Given the description of an element on the screen output the (x, y) to click on. 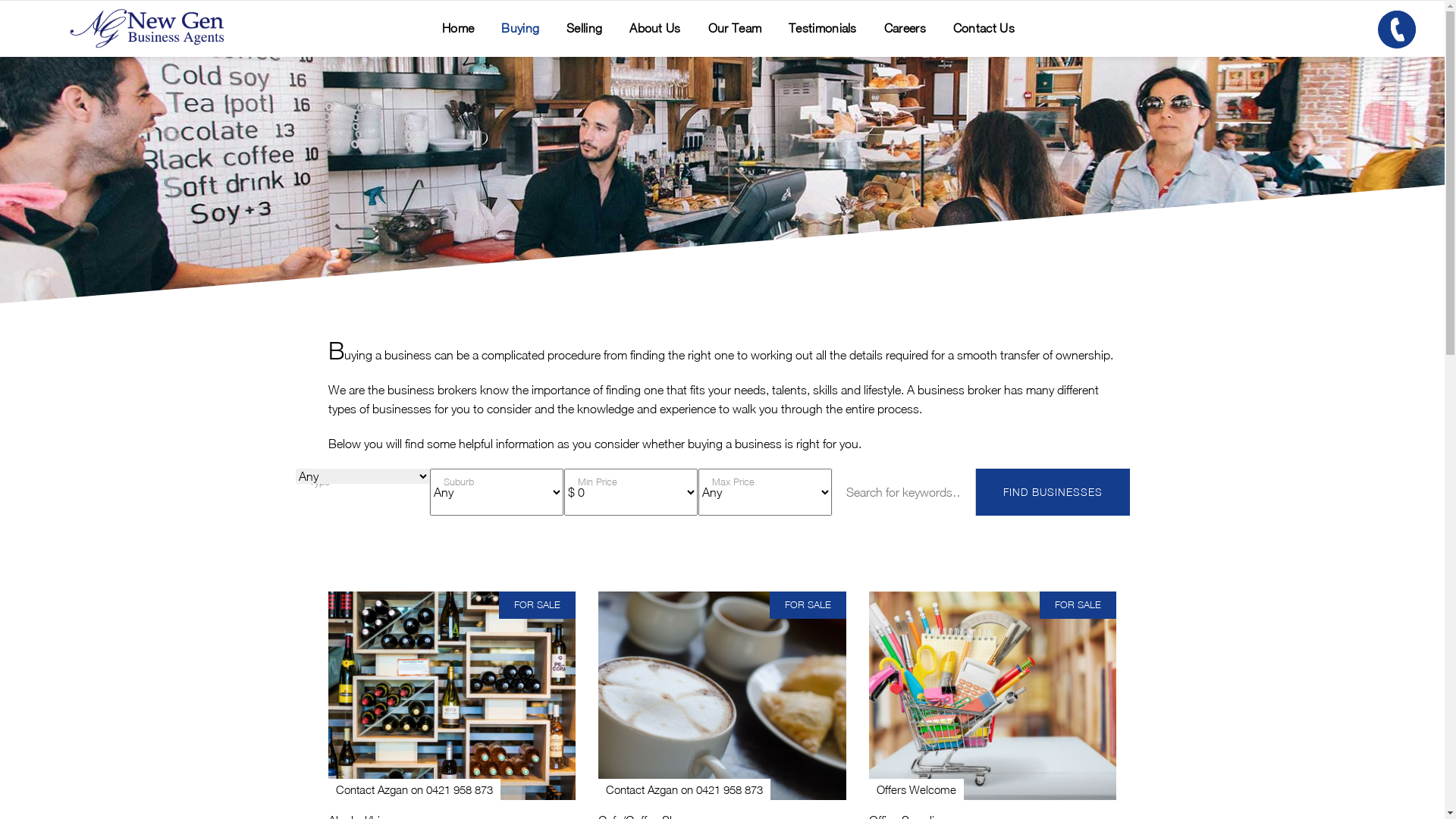
FOR SALE Element type: text (807, 604)
FIND BUSINESSES Element type: text (1052, 491)
Contact Us Element type: text (983, 28)
Our Team Element type: text (734, 28)
Careers Element type: text (904, 28)
FOR SALE Element type: text (1077, 604)
FOR SALE Element type: text (537, 604)
Home Element type: text (457, 28)
Selling Element type: text (584, 28)
Testimonials Element type: text (822, 28)
Buying Element type: text (520, 28)
About Us Element type: text (654, 28)
